Given the description of an element on the screen output the (x, y) to click on. 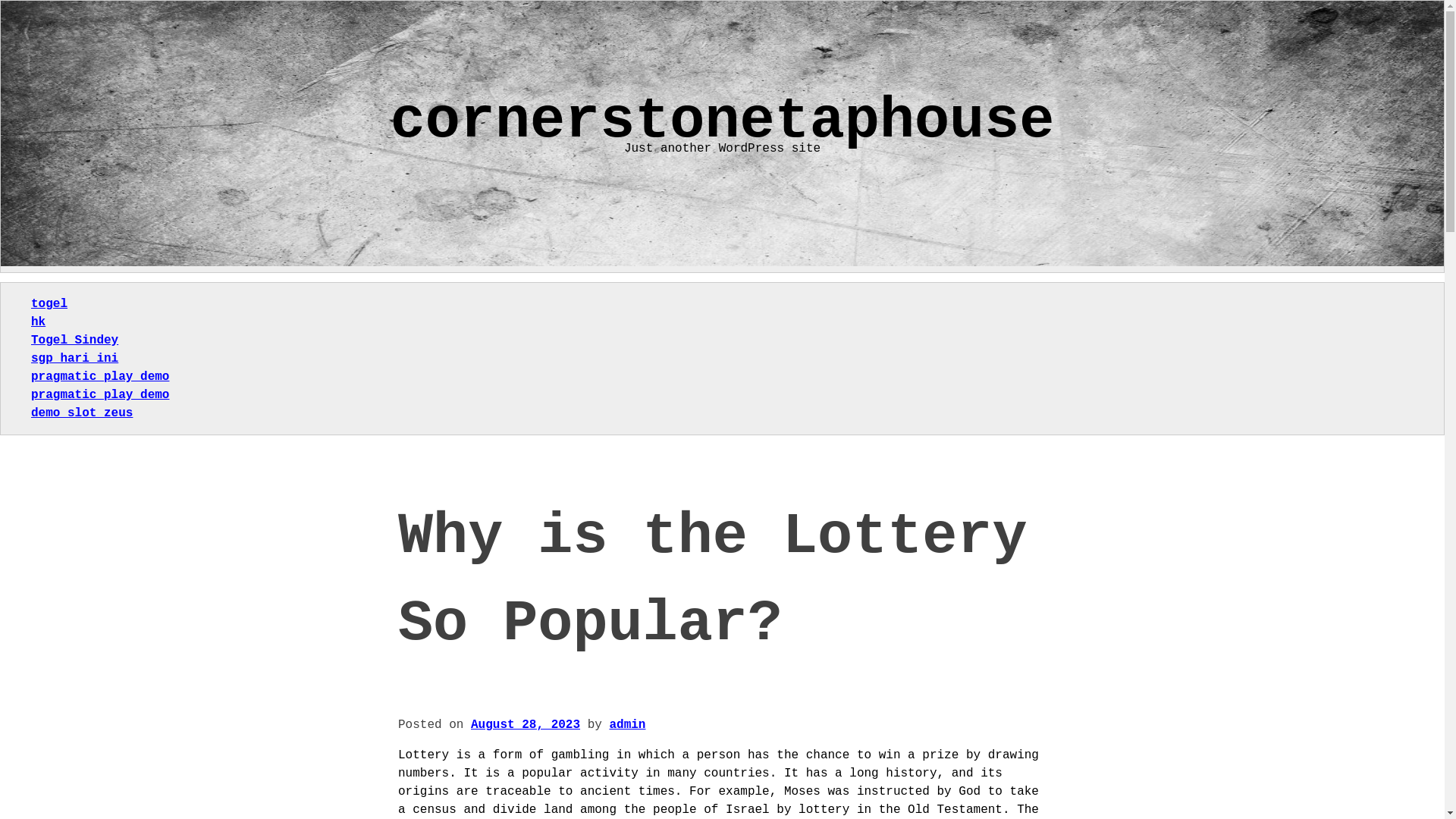
admin (626, 725)
August 28, 2023 (524, 725)
cornerstonetaphouse (722, 120)
sgp hari ini (73, 358)
togel (48, 304)
demo slot zeus (81, 413)
pragmatic play demo (99, 377)
hk (37, 322)
pragmatic play demo (99, 395)
Togel Sindey (73, 340)
